Given the description of an element on the screen output the (x, y) to click on. 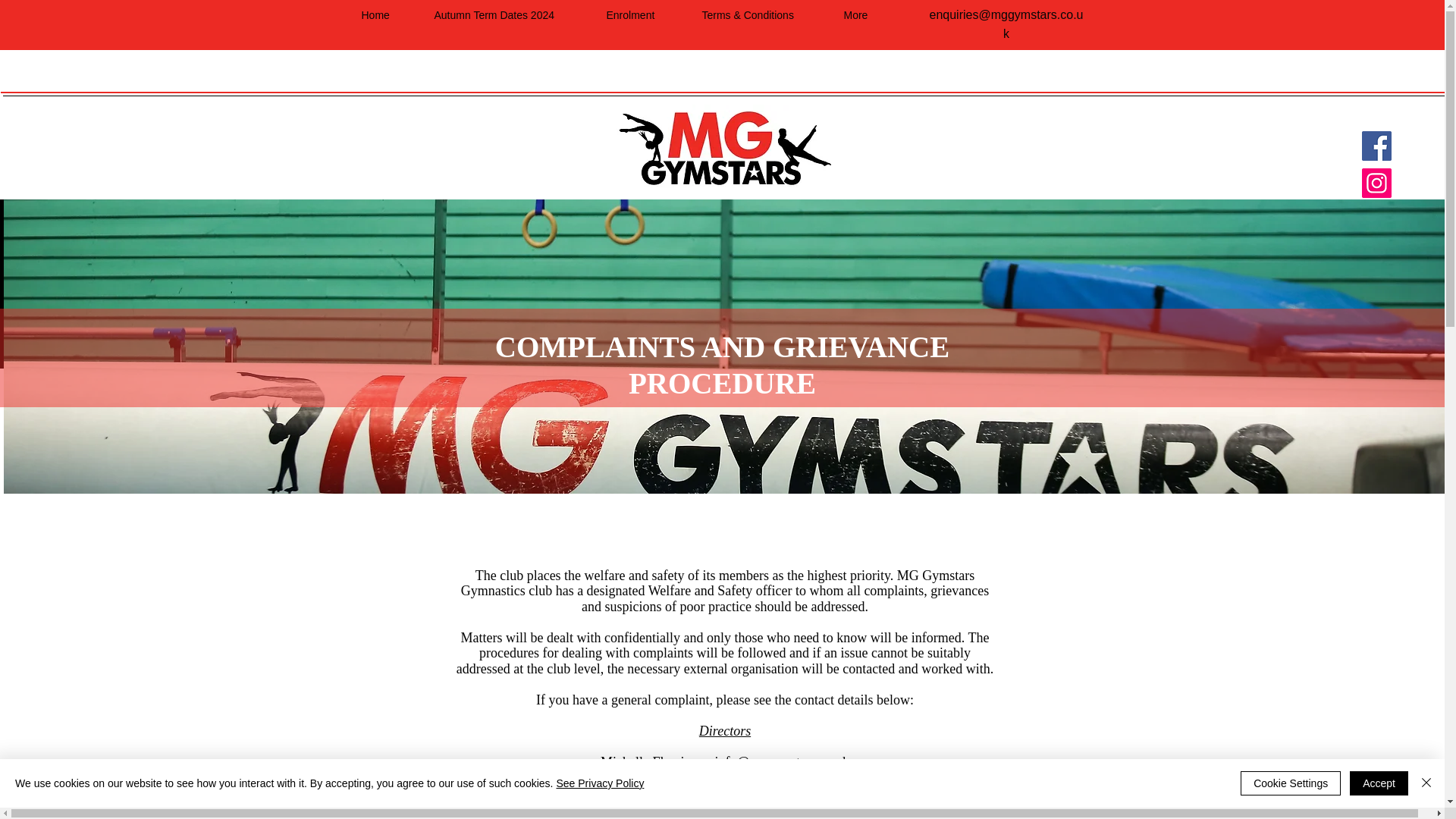
See Privacy Policy (599, 783)
Accept (1378, 783)
Enrolment (646, 15)
Cookie Settings (1290, 783)
Autumn Term Dates 2024 (512, 15)
Home (389, 15)
